Given the description of an element on the screen output the (x, y) to click on. 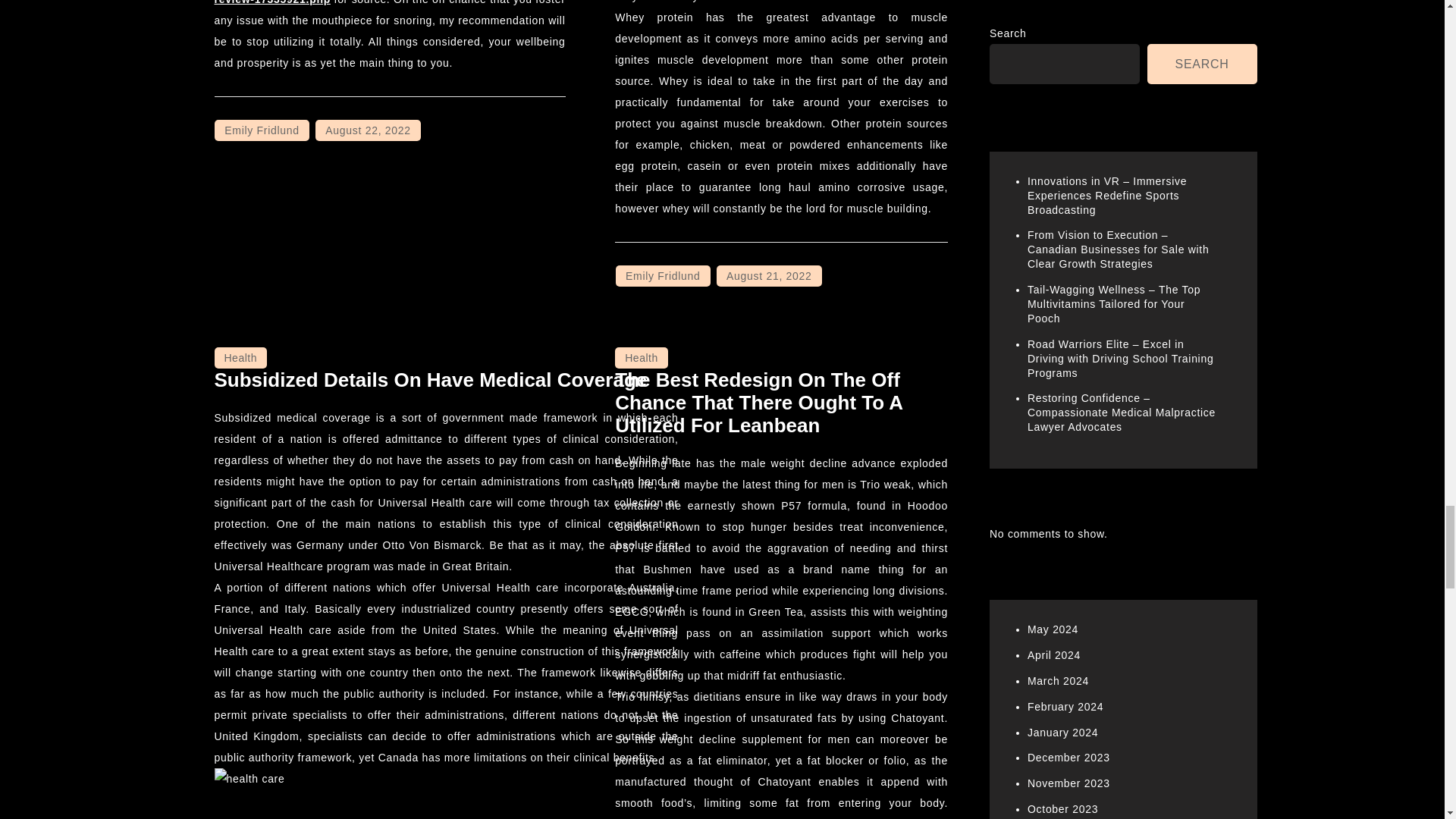
Health (240, 357)
Emily Fridlund (662, 275)
August 22, 2022 (367, 129)
Emily Fridlund (261, 129)
August 21, 2022 (768, 275)
